Given the description of an element on the screen output the (x, y) to click on. 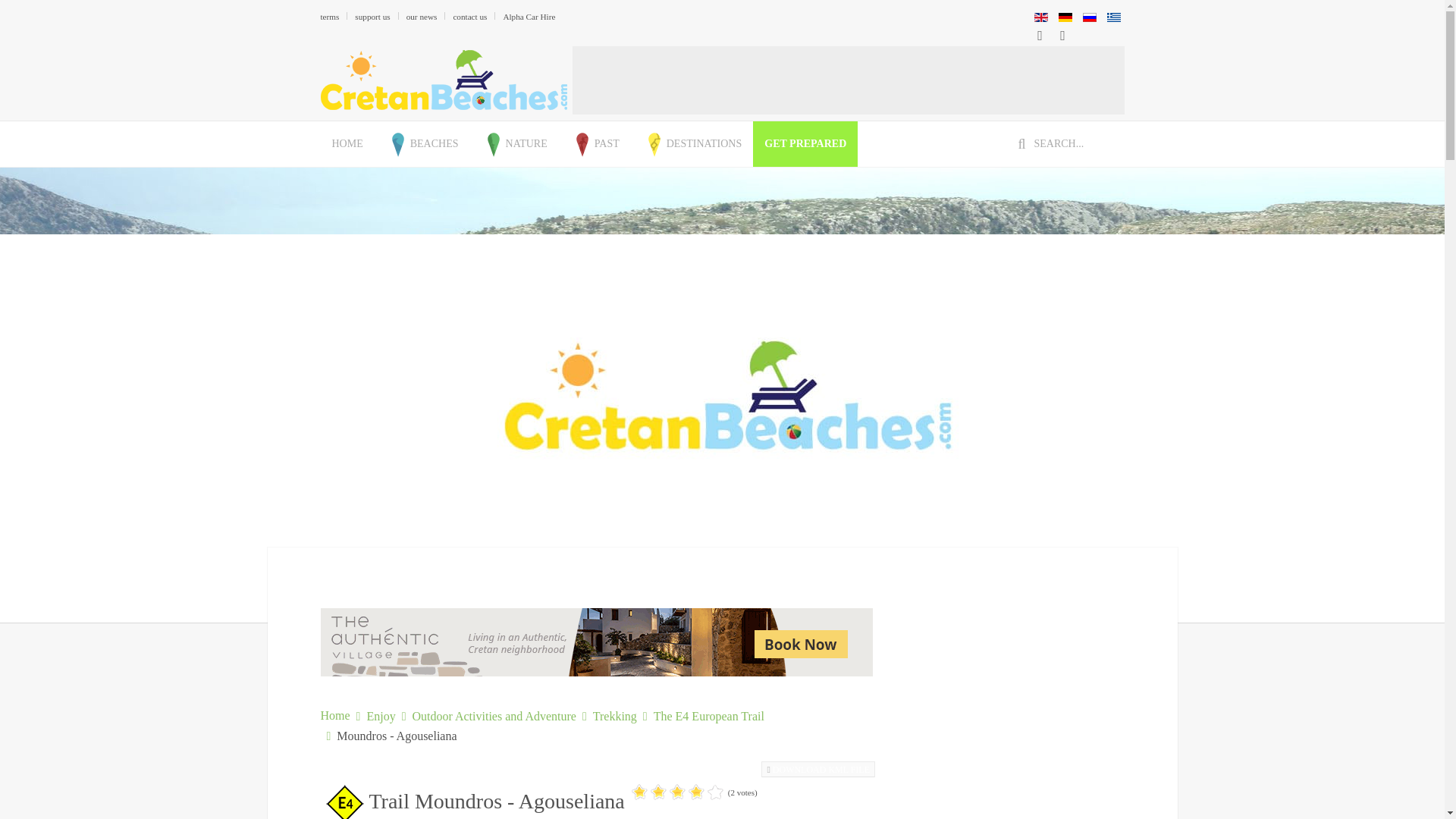
support us (372, 16)
2 stars out of 5 (649, 792)
contact us (469, 16)
NATURE (514, 144)
BEACHES (422, 144)
Deutsch (1064, 17)
our news (422, 16)
Alpha Car Hire (528, 16)
5 stars out of 5 (677, 792)
dc1d6f777886429c4e95ddd8c1ab062e (821, 769)
